Given the description of an element on the screen output the (x, y) to click on. 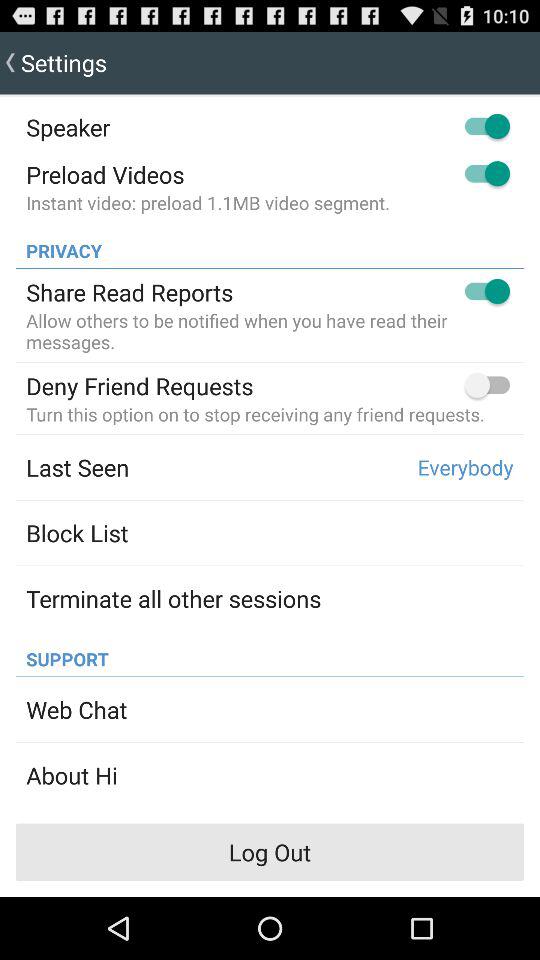
tap the speaker app (68, 127)
